Given the description of an element on the screen output the (x, y) to click on. 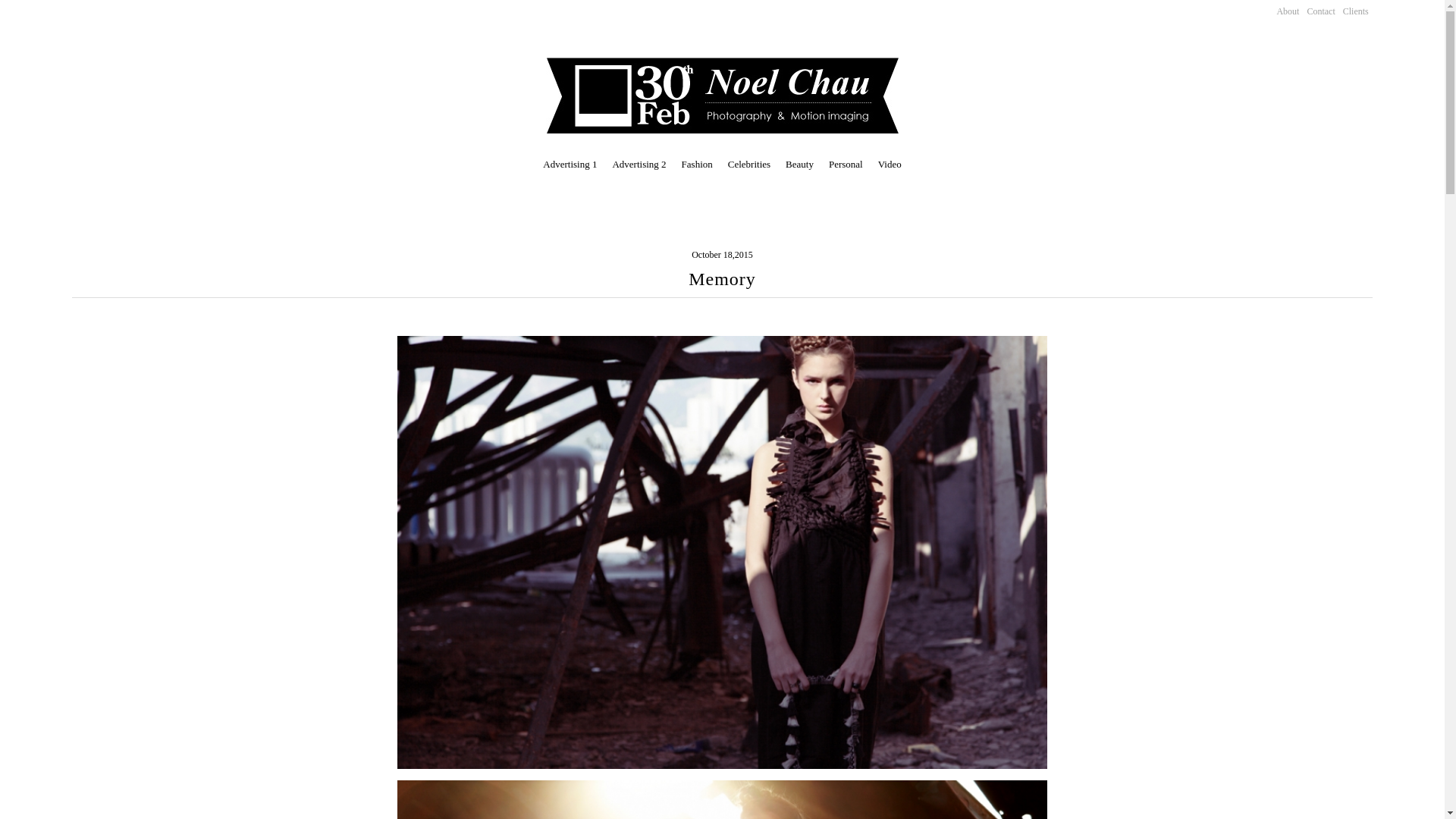
Fashion Element type: text (696, 163)
Celebrities Element type: text (749, 163)
About Element type: text (1287, 10)
Beauty Element type: text (799, 163)
Personal Element type: text (845, 163)
Video Element type: text (889, 163)
Advertising 1 Element type: text (569, 163)
Contact Element type: text (1320, 10)
Advertising 2 Element type: text (638, 163)
Clients Element type: text (1355, 10)
